Given the description of an element on the screen output the (x, y) to click on. 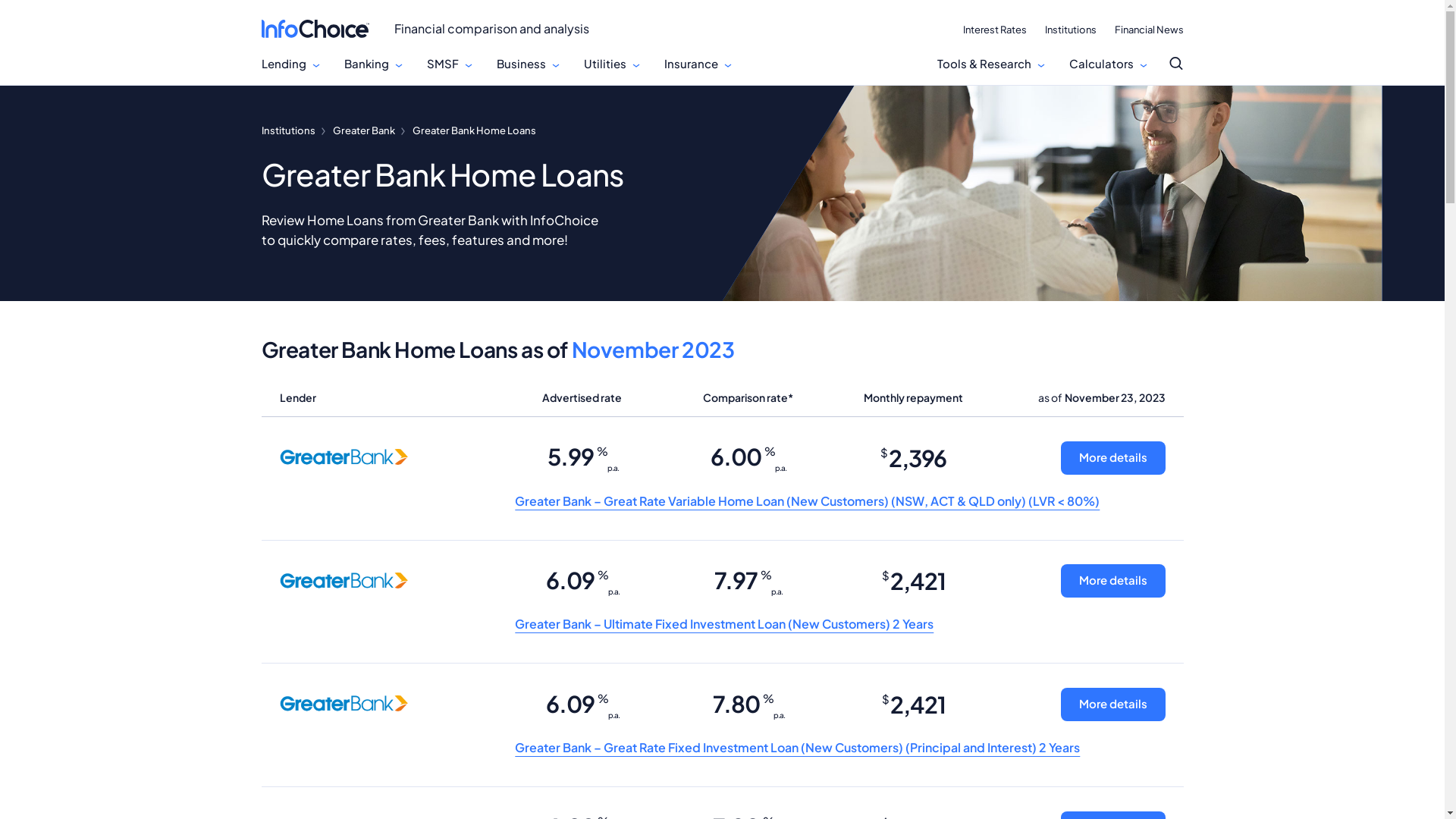
Comparison rate* Element type: text (747, 396)
More details Element type: text (1112, 457)
Institutions Element type: text (1070, 29)
Calculators Element type: text (1101, 63)
Banking Element type: text (366, 63)
Greater Bank Element type: text (363, 130)
Monthly repayment Element type: text (913, 396)
Greater Bank Home Loans Element type: text (474, 130)
SMSF Element type: text (442, 63)
Lending Element type: text (282, 63)
Lender Element type: text (388, 396)
Business Element type: text (520, 63)
Utilities Element type: text (604, 63)
Institutions Element type: text (287, 130)
Advertised rate Element type: text (581, 396)
Financial News Element type: text (1148, 29)
Interest Rates Element type: text (994, 29)
Tools & Research Element type: text (984, 63)
More details Element type: text (1112, 704)
Insurance Element type: text (691, 63)
More details Element type: text (1112, 580)
